Given the description of an element on the screen output the (x, y) to click on. 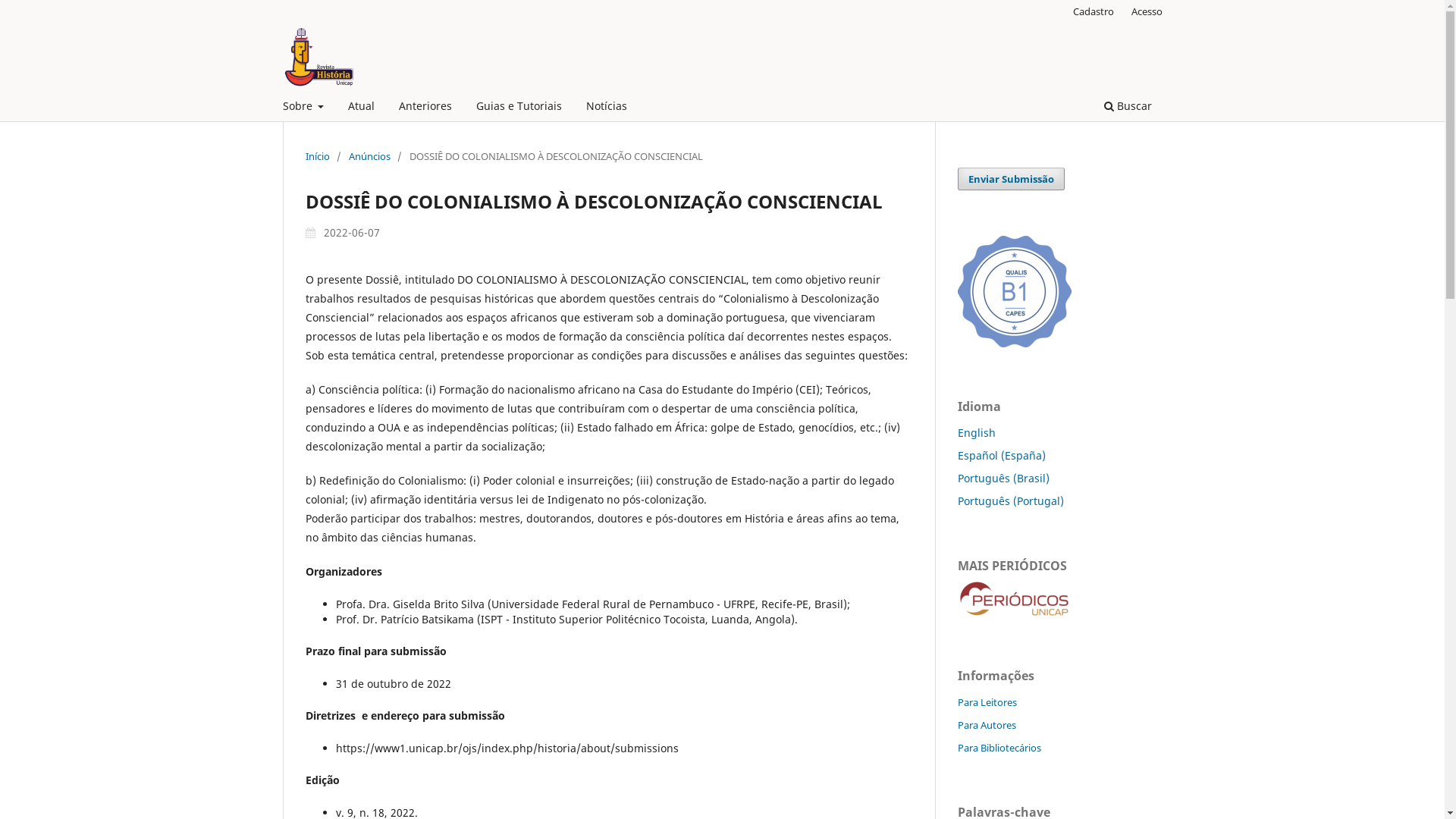
Guias e Tutoriais Element type: text (518, 107)
Para Leitores Element type: text (986, 702)
Atual Element type: text (360, 107)
Sobre Element type: text (303, 107)
Buscar Element type: text (1127, 107)
Acesso Element type: text (1146, 11)
Anteriores Element type: text (425, 107)
English Element type: text (975, 432)
Para Autores Element type: text (986, 724)
Cadastro Element type: text (1093, 11)
